Given the description of an element on the screen output the (x, y) to click on. 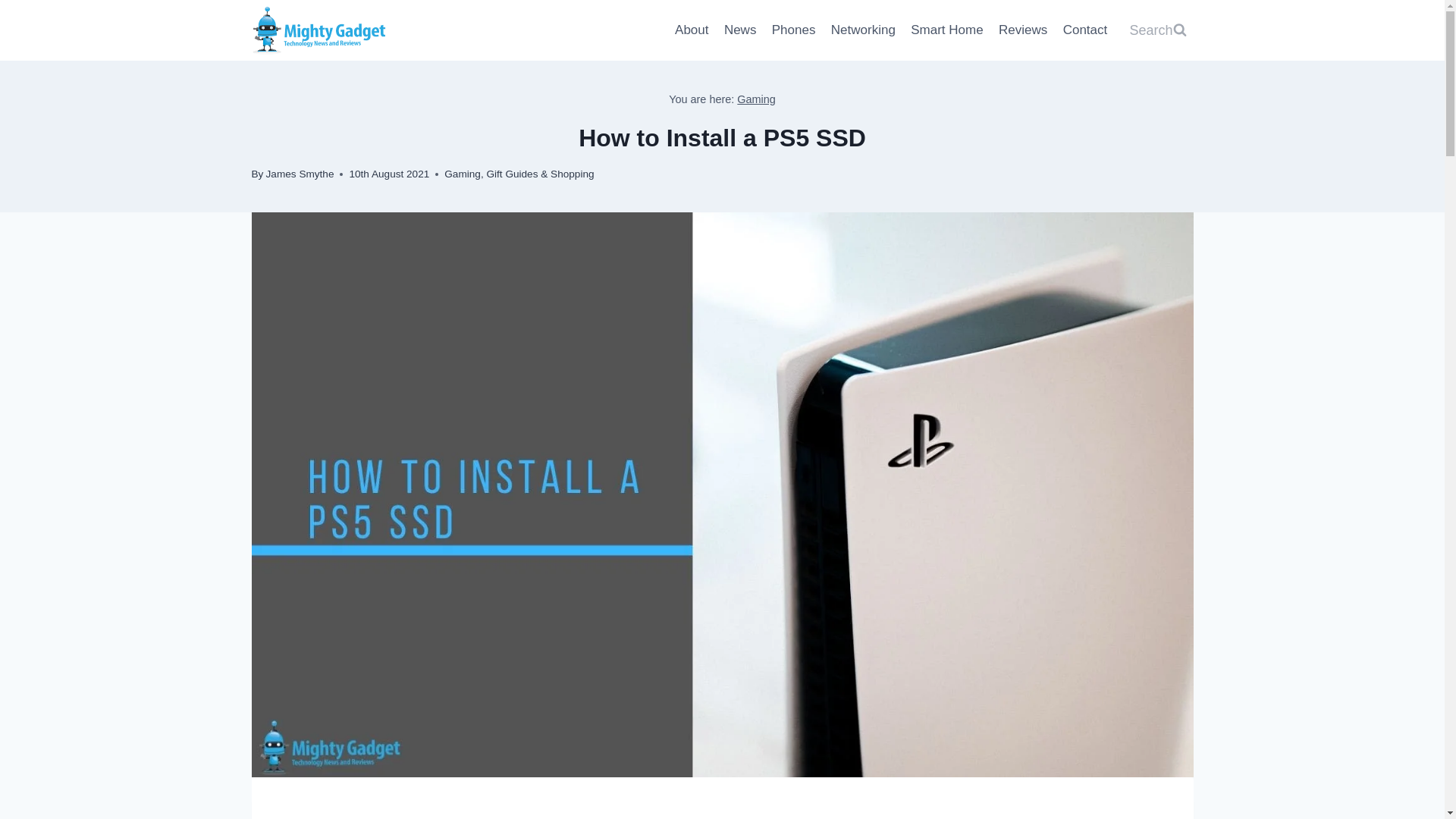
News (740, 30)
About (691, 30)
Gaming (756, 99)
Smart Home (946, 30)
Reviews (1023, 30)
Networking (863, 30)
Search (1157, 30)
Contact (1084, 30)
Phones (794, 30)
